Given the description of an element on the screen output the (x, y) to click on. 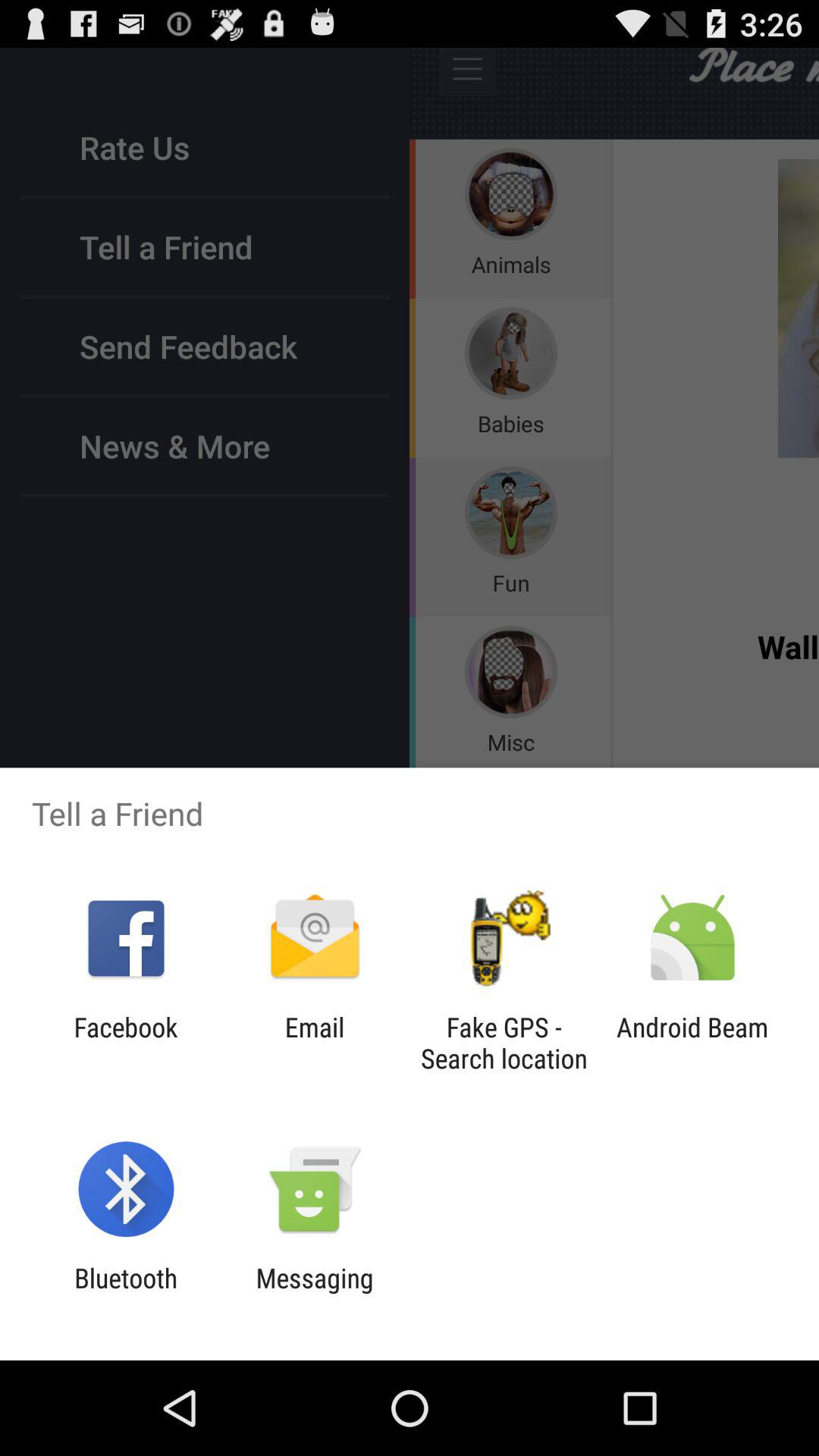
turn off the icon at the bottom right corner (692, 1042)
